Given the description of an element on the screen output the (x, y) to click on. 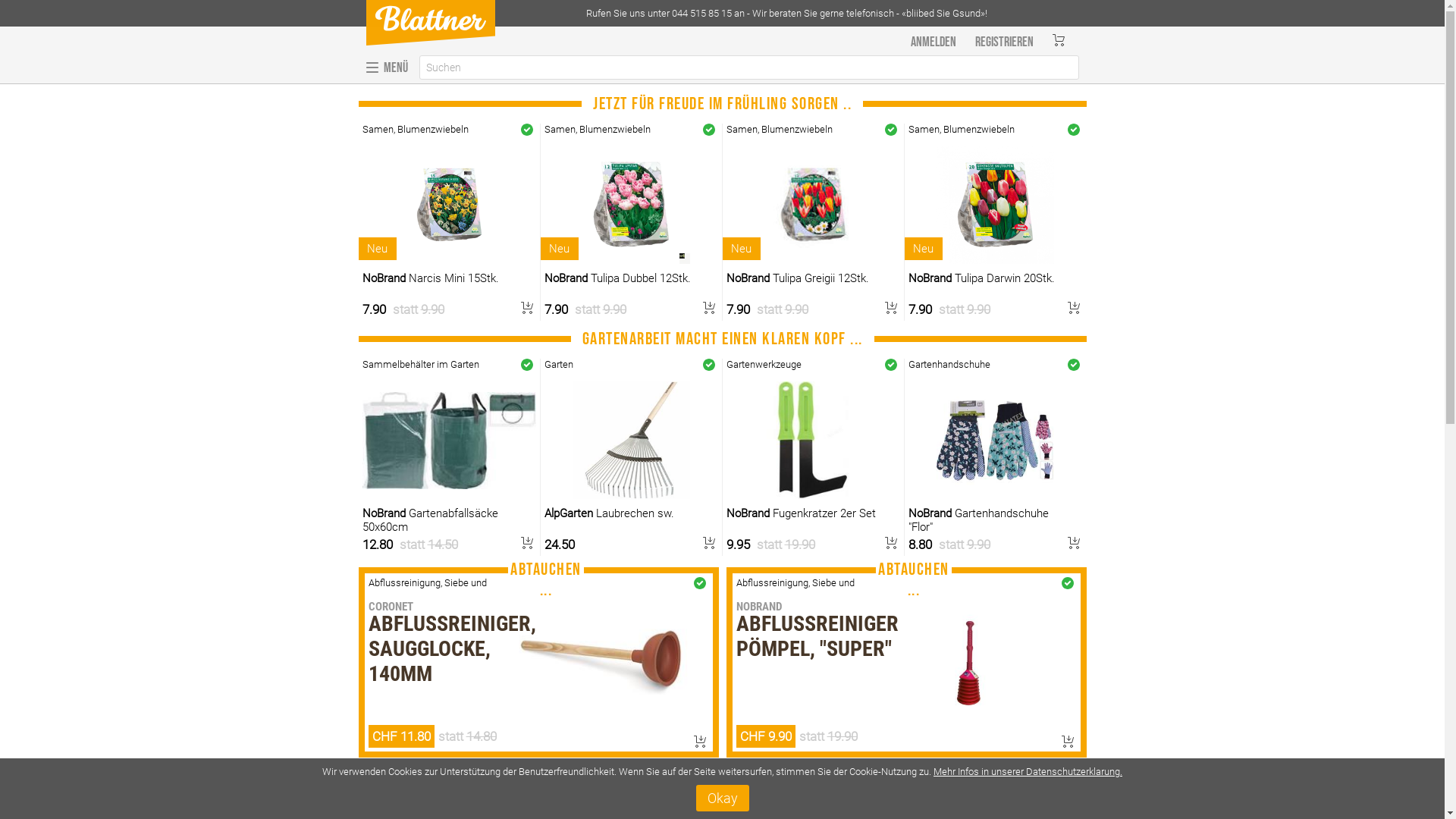
Mehr Infos in unserer Datenschutzerklarung. Element type: text (1027, 771)
Garten Element type: text (922, 364)
Garten Element type: text (558, 364)
Abflussreinigung, Siebe und Stopfen Element type: text (427, 588)
Samen, Blumenzwiebeln Element type: text (779, 128)
Abflussreinigung, Siebe und Stopfen Element type: text (794, 588)
Samen, Blumenzwiebeln Element type: text (597, 128)
Samen, Blumenzwiebeln Element type: text (415, 128)
Gartenscheren Element type: text (394, 364)
Okay Element type: text (722, 797)
Gartenscheren Element type: text (758, 364)
